Given the description of an element on the screen output the (x, y) to click on. 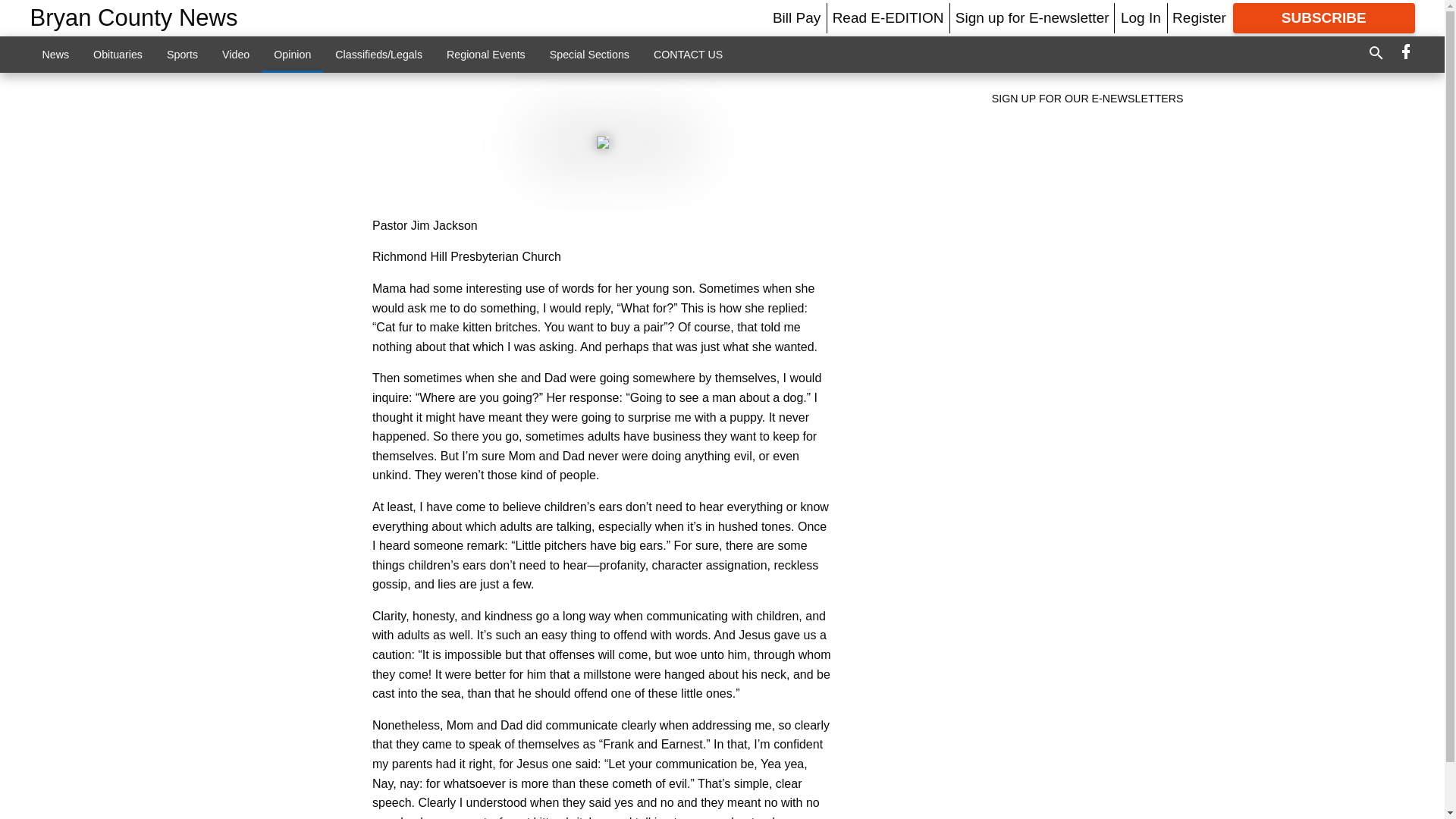
Opinion (292, 54)
Sports (181, 54)
Obituaries (117, 54)
Bryan County News (134, 17)
Regional Events (485, 54)
Video (235, 54)
Bill Pay (797, 17)
Read E-EDITION (887, 17)
Register (1198, 17)
Sign up for E-newsletter (1032, 17)
News (55, 54)
Log In (1140, 17)
SUBSCRIBE (1324, 18)
